Given the description of an element on the screen output the (x, y) to click on. 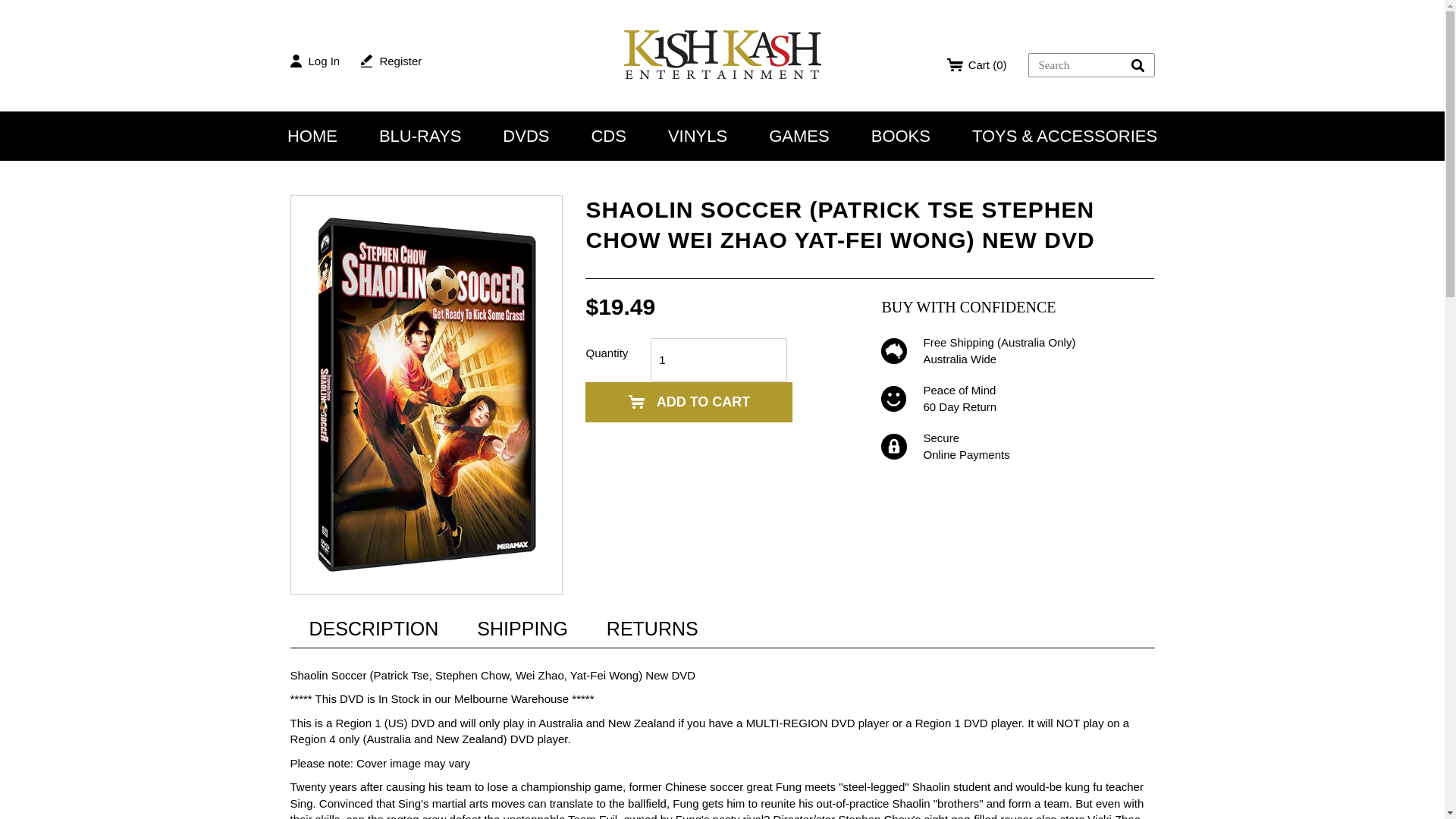
BLU-RAYS (419, 135)
GAMES (798, 135)
cart (977, 64)
ADD TO CART (688, 402)
RETURNS (652, 628)
DESCRIPTION (373, 628)
Log In (314, 60)
Description (373, 628)
Shipping (522, 628)
Register (391, 60)
HOME (311, 135)
BOOKS (900, 135)
VINYLS (697, 135)
1 (718, 360)
Returns (652, 628)
